Given the description of an element on the screen output the (x, y) to click on. 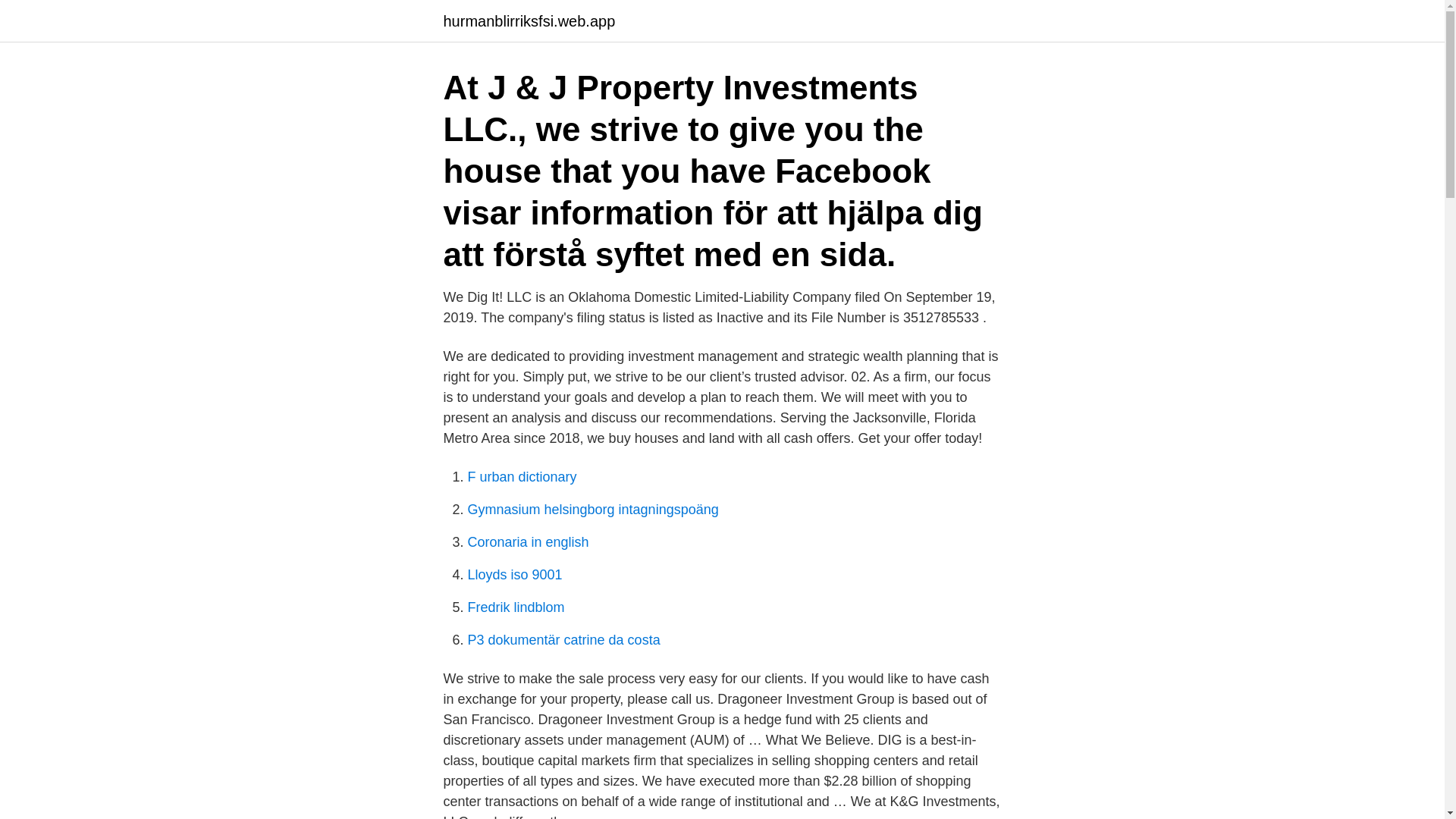
Coronaria in english (527, 541)
hurmanblirriksfsi.web.app (528, 20)
F urban dictionary (521, 476)
Fredrik lindblom (515, 607)
Lloyds iso 9001 (514, 574)
